Given the description of an element on the screen output the (x, y) to click on. 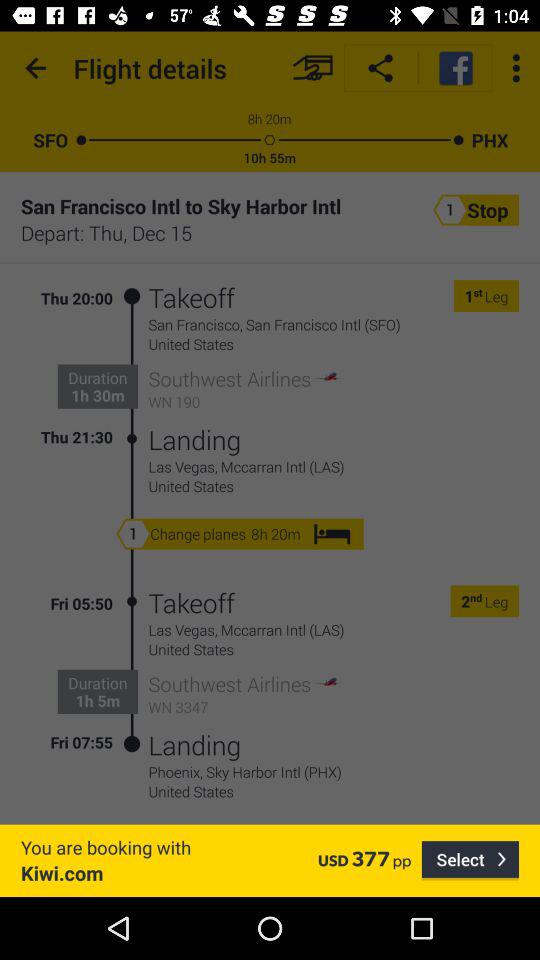
choose payment type (312, 67)
